Given the description of an element on the screen output the (x, y) to click on. 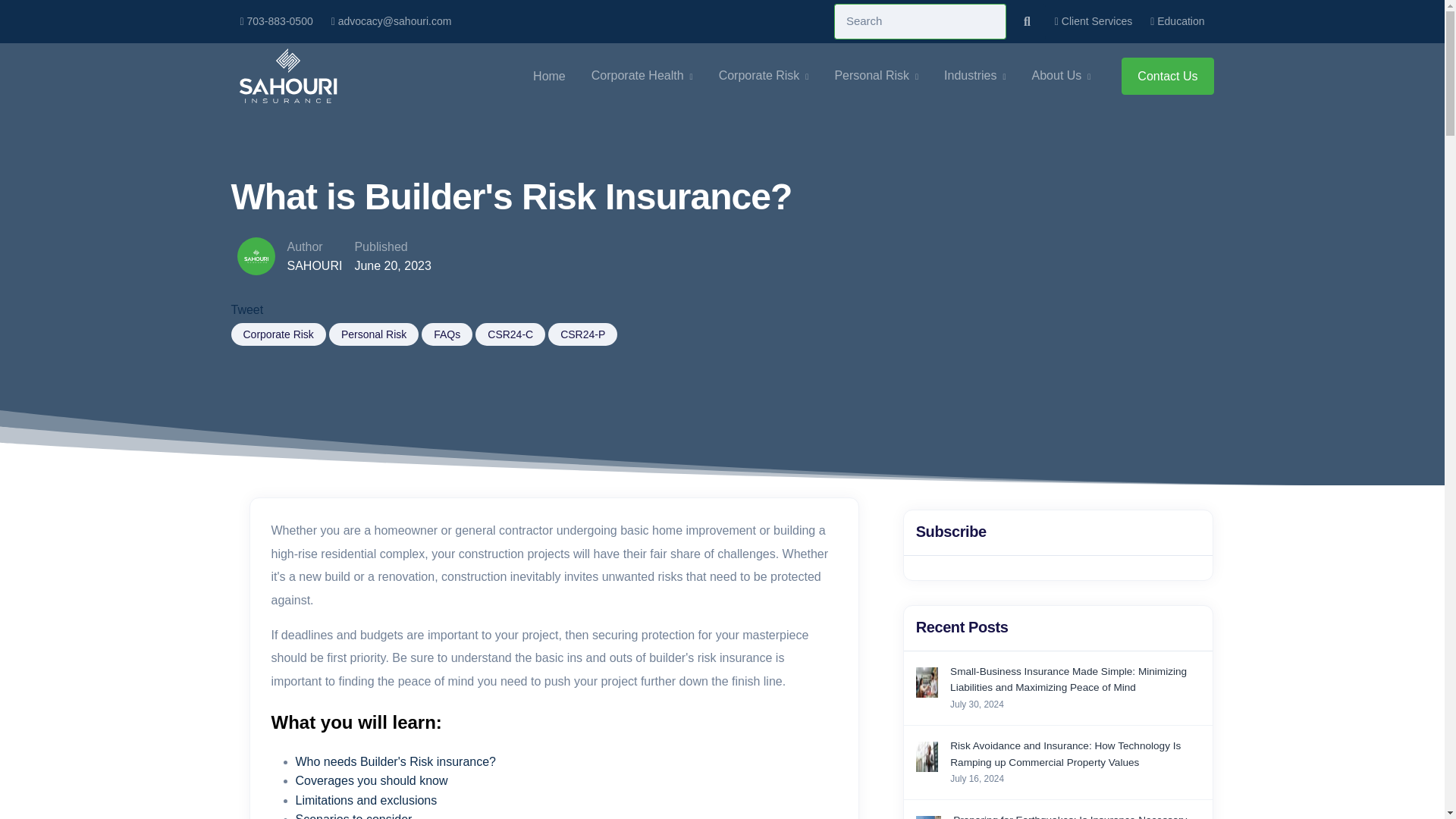
703-883-0500 (275, 21)
Client Services (1093, 21)
Corporate Risk (764, 75)
Coverages you should know (371, 780)
Corporate Health (641, 75)
SAHOURI INSURANCE (286, 76)
Who needs Builder's Risk insurance? (395, 761)
Personal Risk (876, 75)
Industries (974, 75)
About Us (1061, 75)
